Given the description of an element on the screen output the (x, y) to click on. 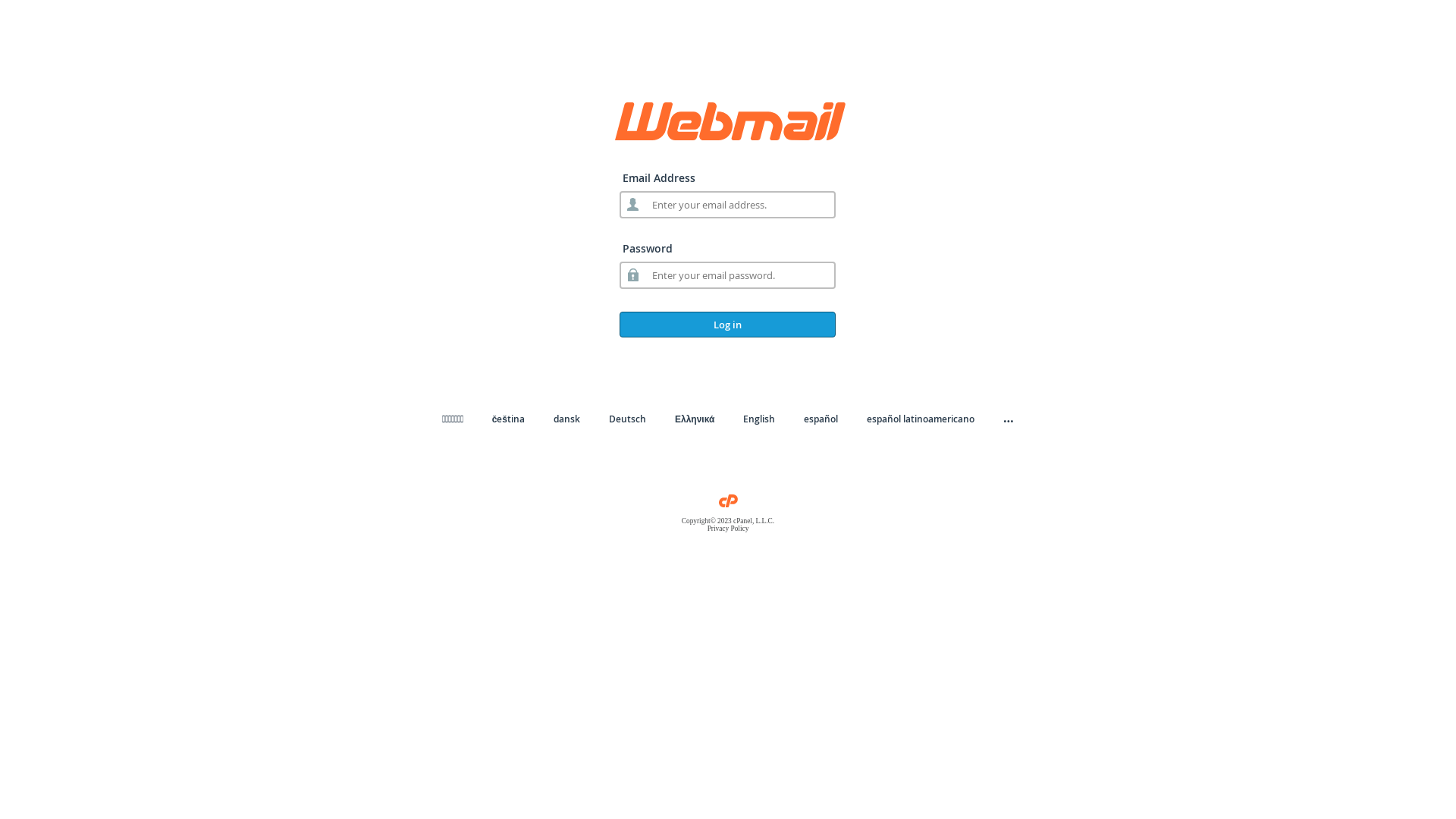
Log in Element type: text (727, 324)
English Element type: text (759, 418)
Privacy Policy Element type: text (728, 528)
Deutsch Element type: text (627, 418)
dansk Element type: text (566, 418)
